Given the description of an element on the screen output the (x, y) to click on. 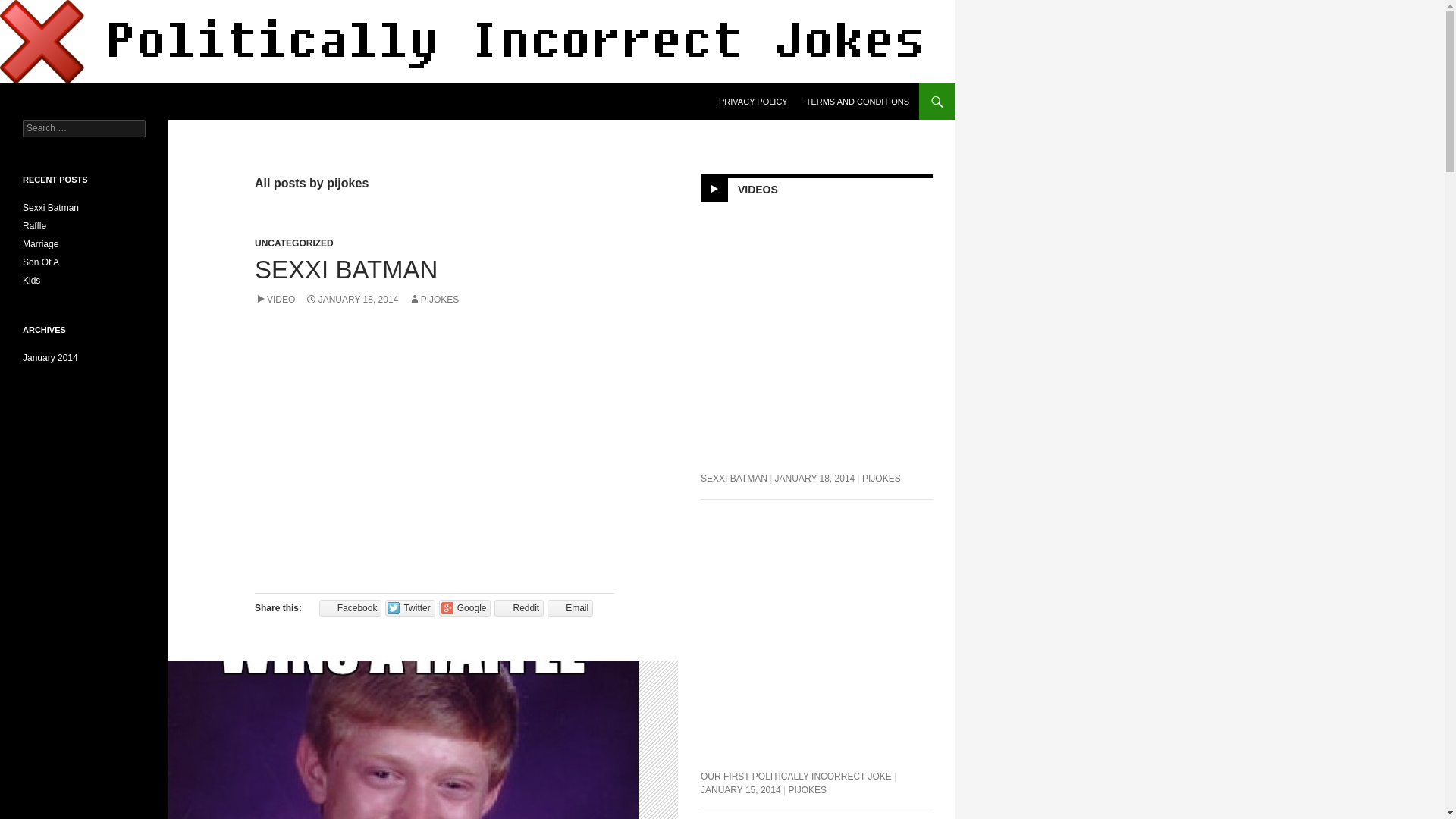
TERMS AND CONDITIONS (857, 101)
VIDEO (274, 299)
PIJOKES (434, 299)
Click to share on Twitter (409, 607)
Facebook (349, 607)
Share on Facebook (349, 607)
Click to share on Reddit (519, 607)
Email (569, 607)
Click to email this to a friend (569, 607)
JANUARY 18, 2014 (351, 299)
